Given the description of an element on the screen output the (x, y) to click on. 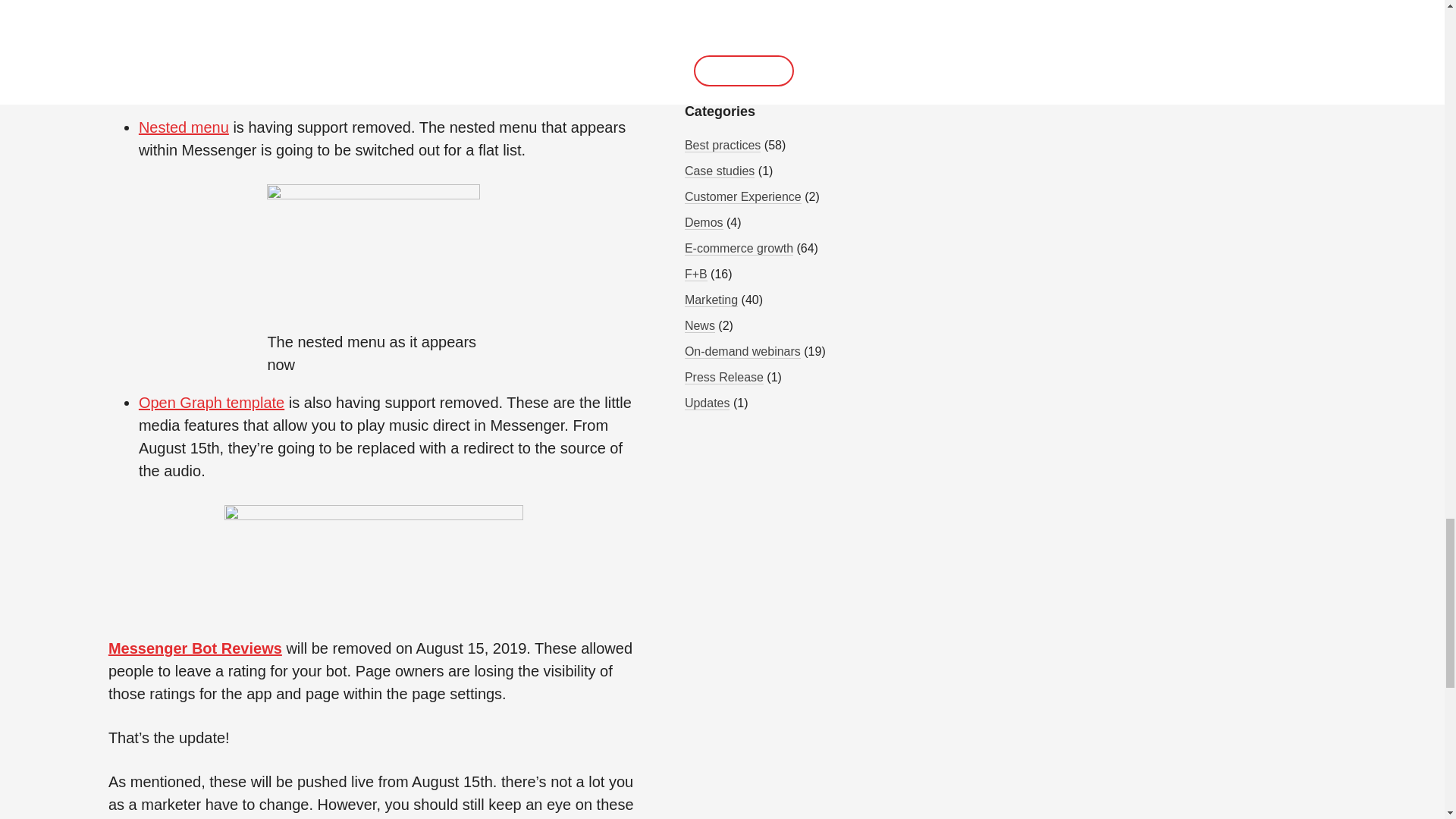
Nested menu (183, 126)
Messenger Bot Reviews (194, 647)
Open Graph template (210, 402)
